Given the description of an element on the screen output the (x, y) to click on. 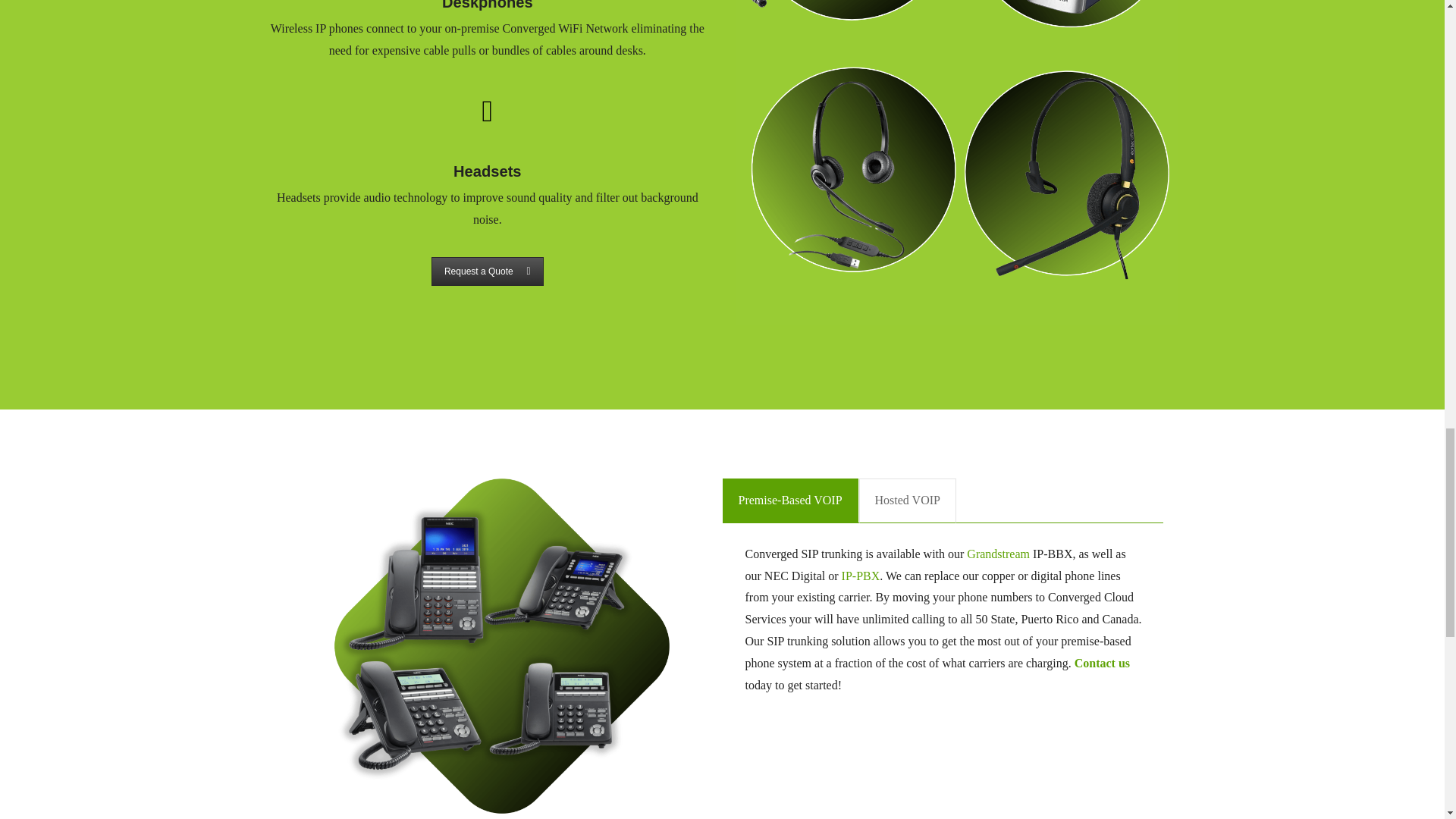
Premise-Based VOIP (789, 500)
Contact us (1101, 662)
Request a Quote (486, 271)
IP-PBX (860, 575)
Hosted VOIP (907, 500)
Grandstream (997, 553)
Contact Us (486, 271)
